Given the description of an element on the screen output the (x, y) to click on. 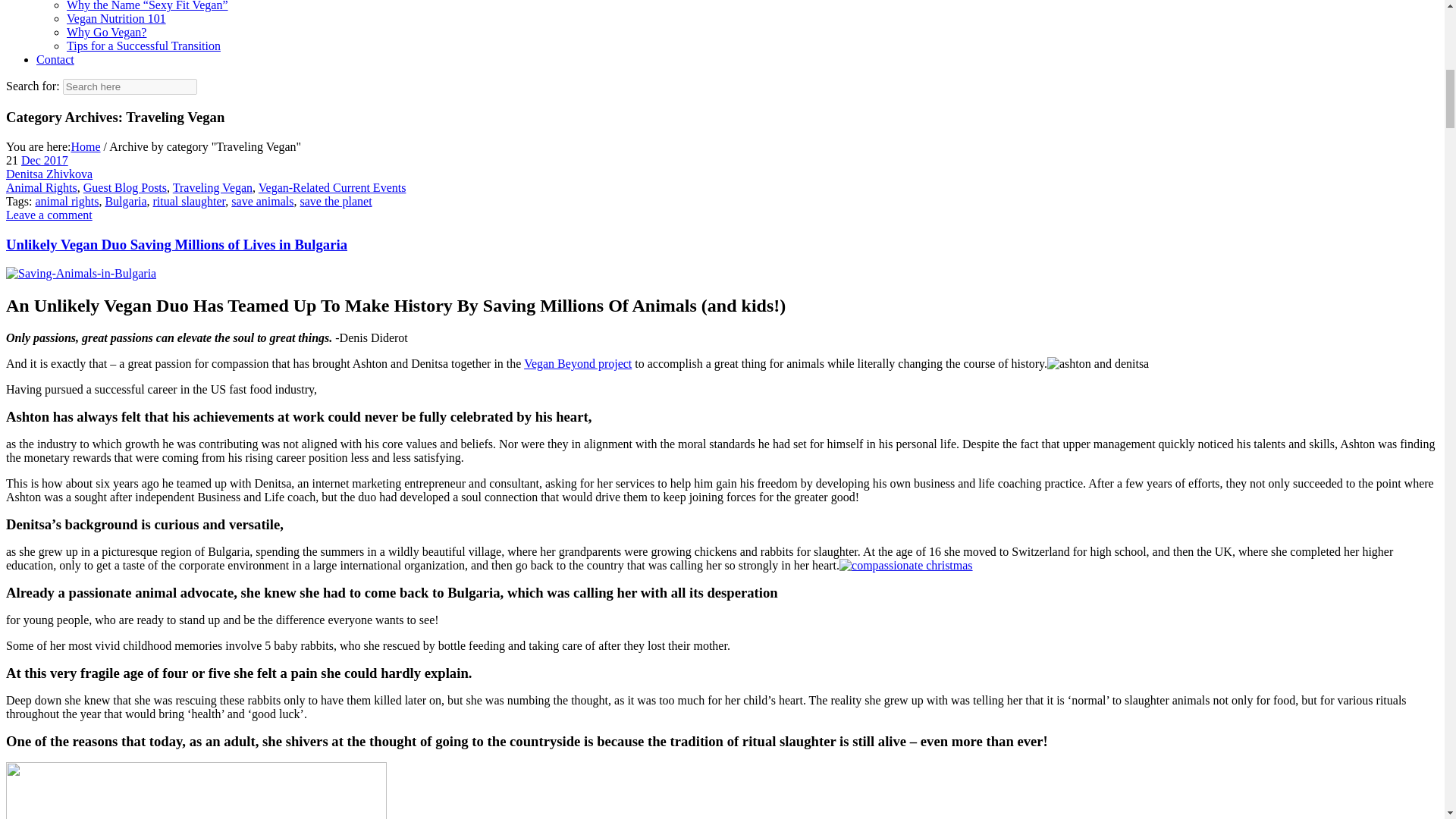
Posts by Denitsa Zhivkova (49, 173)
